Given the description of an element on the screen output the (x, y) to click on. 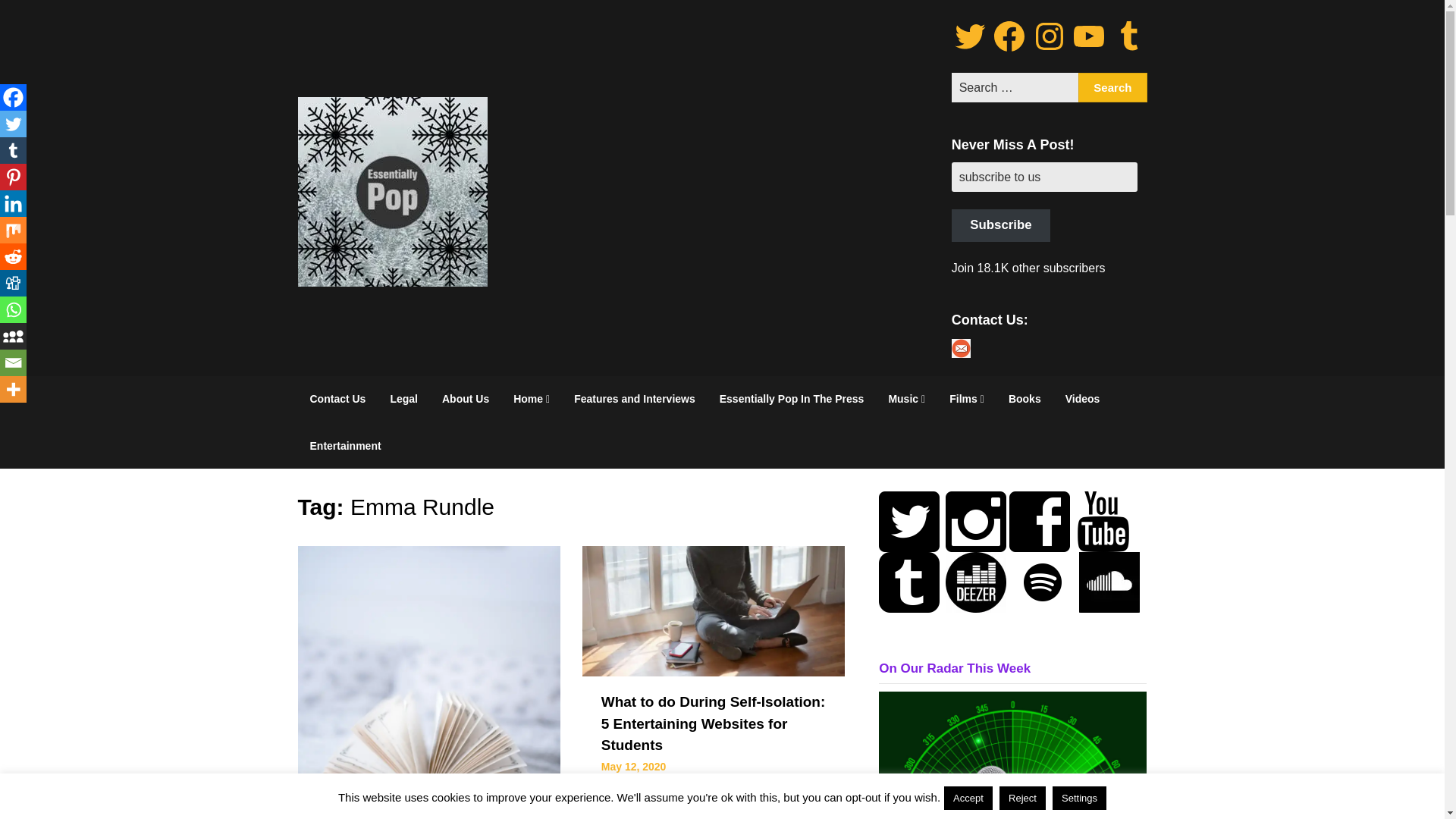
Search (1112, 87)
Essentially Pop In The Press (791, 398)
Films (966, 398)
Books (1023, 398)
Legal (403, 398)
Instagram (1048, 36)
Facebook (1009, 36)
Home (531, 398)
Contact Us (337, 398)
Twitter (970, 36)
Tumblr (1128, 36)
Entertainment (345, 445)
Music (906, 398)
Features and Interviews (634, 398)
Videos (1082, 398)
